Given the description of an element on the screen output the (x, y) to click on. 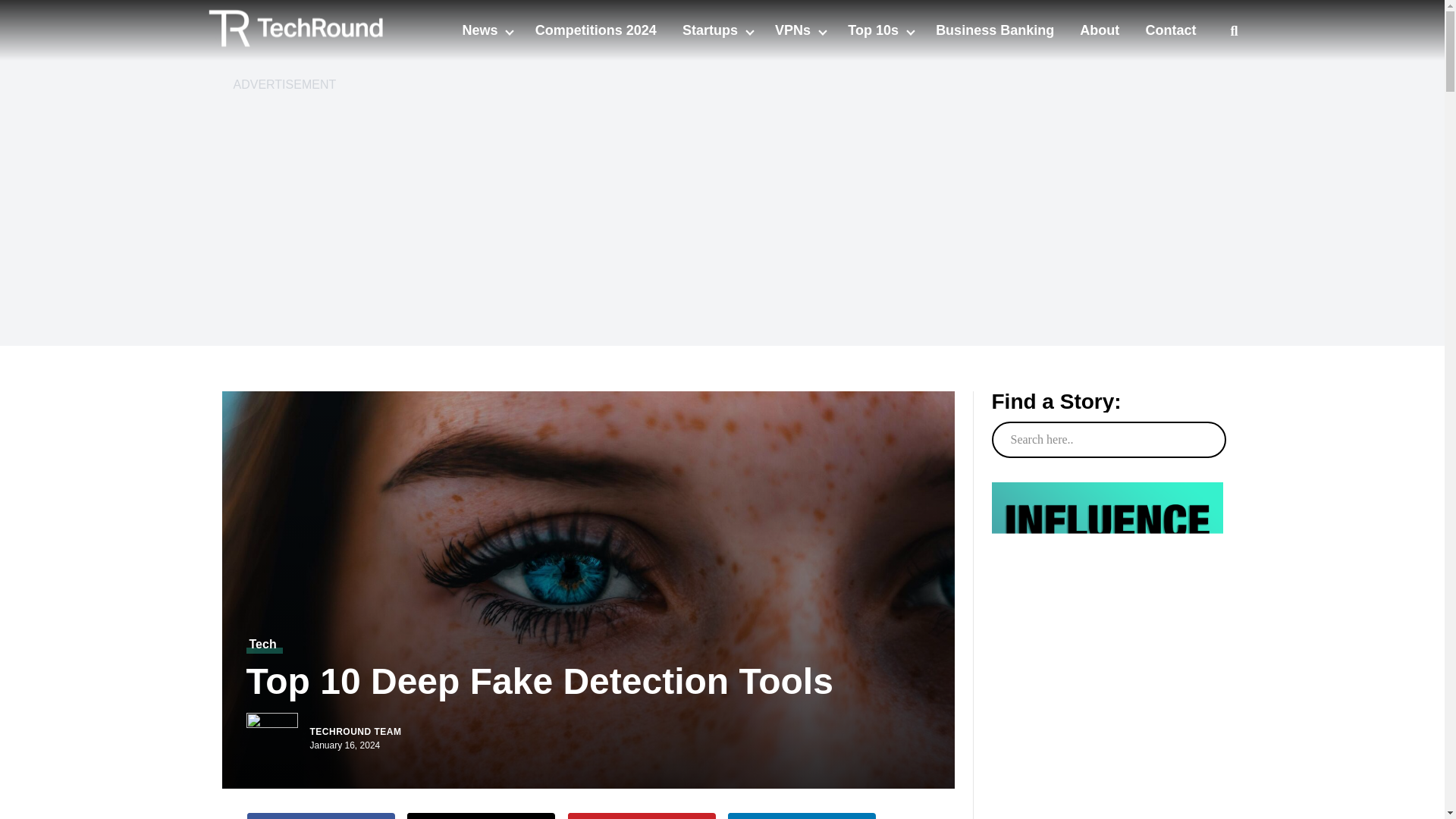
Startups (711, 30)
Share on X (480, 816)
Save to Pinterest (641, 816)
Share on LinkedIn (802, 816)
VPNs (793, 30)
Share on Facebook (320, 816)
News (480, 30)
Competitions 2024 (596, 30)
Top 10s (874, 30)
